Given the description of an element on the screen output the (x, y) to click on. 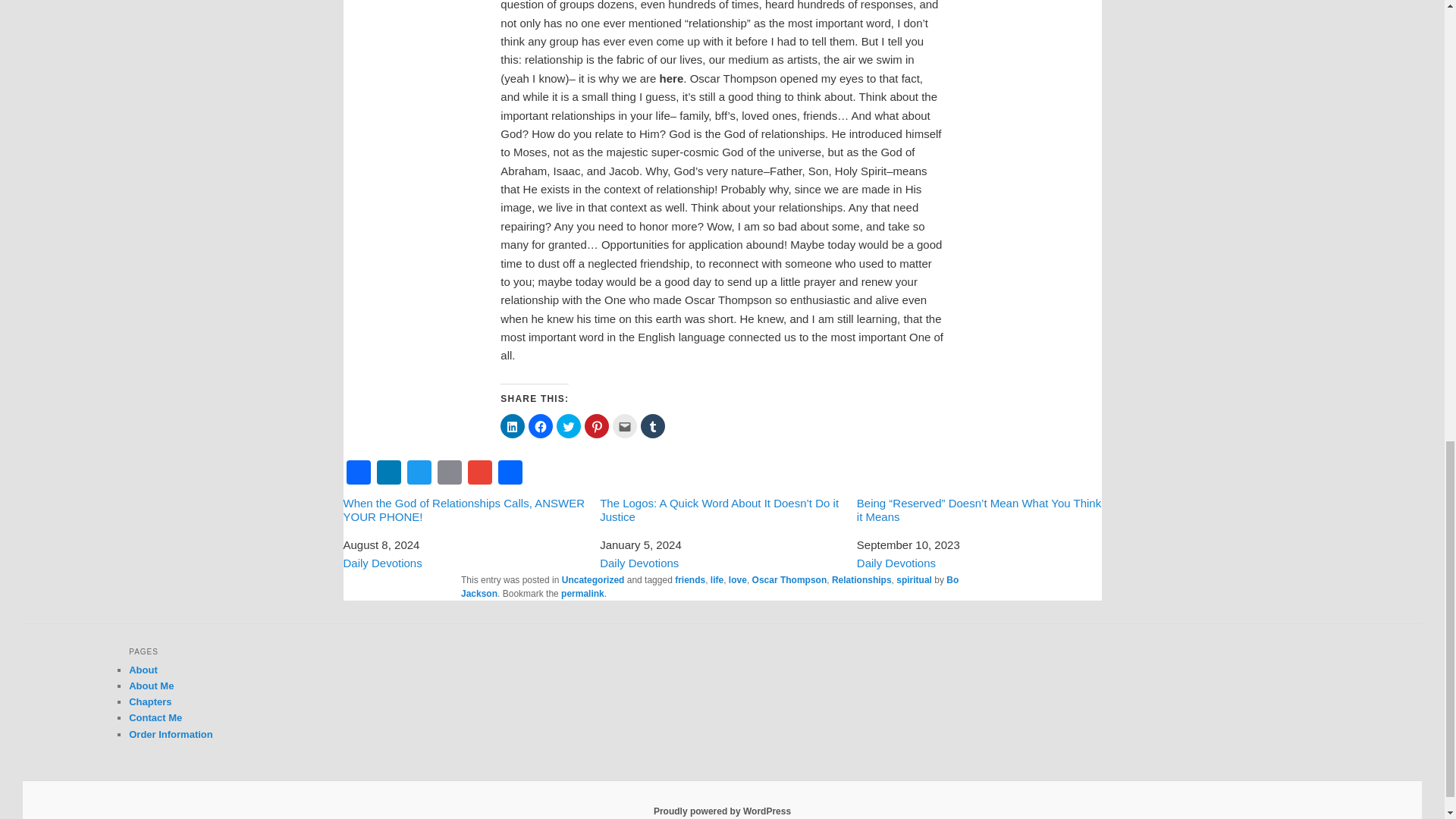
Contact Me (155, 717)
When the God of Relationships Calls, ANSWER YOUR PHONE! (465, 510)
Click to share on Facebook (540, 426)
Twitter (418, 472)
Bo Jackson (709, 586)
Order Information (170, 734)
Click to share on Twitter (568, 426)
Click to share on Pinterest (596, 426)
LinkedIn (387, 472)
Relationships (861, 579)
